Given the description of an element on the screen output the (x, y) to click on. 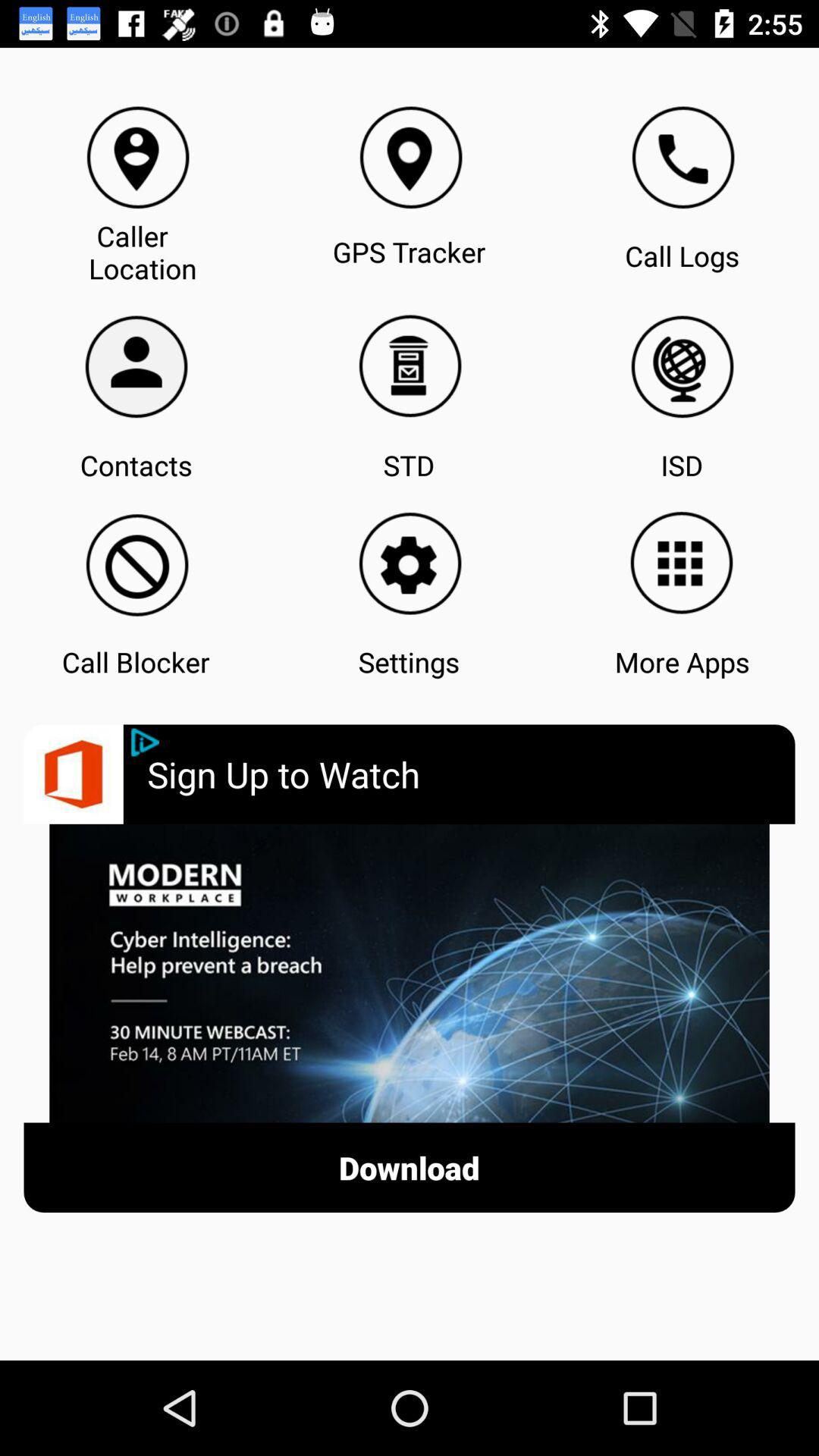
advertisement (409, 973)
